Given the description of an element on the screen output the (x, y) to click on. 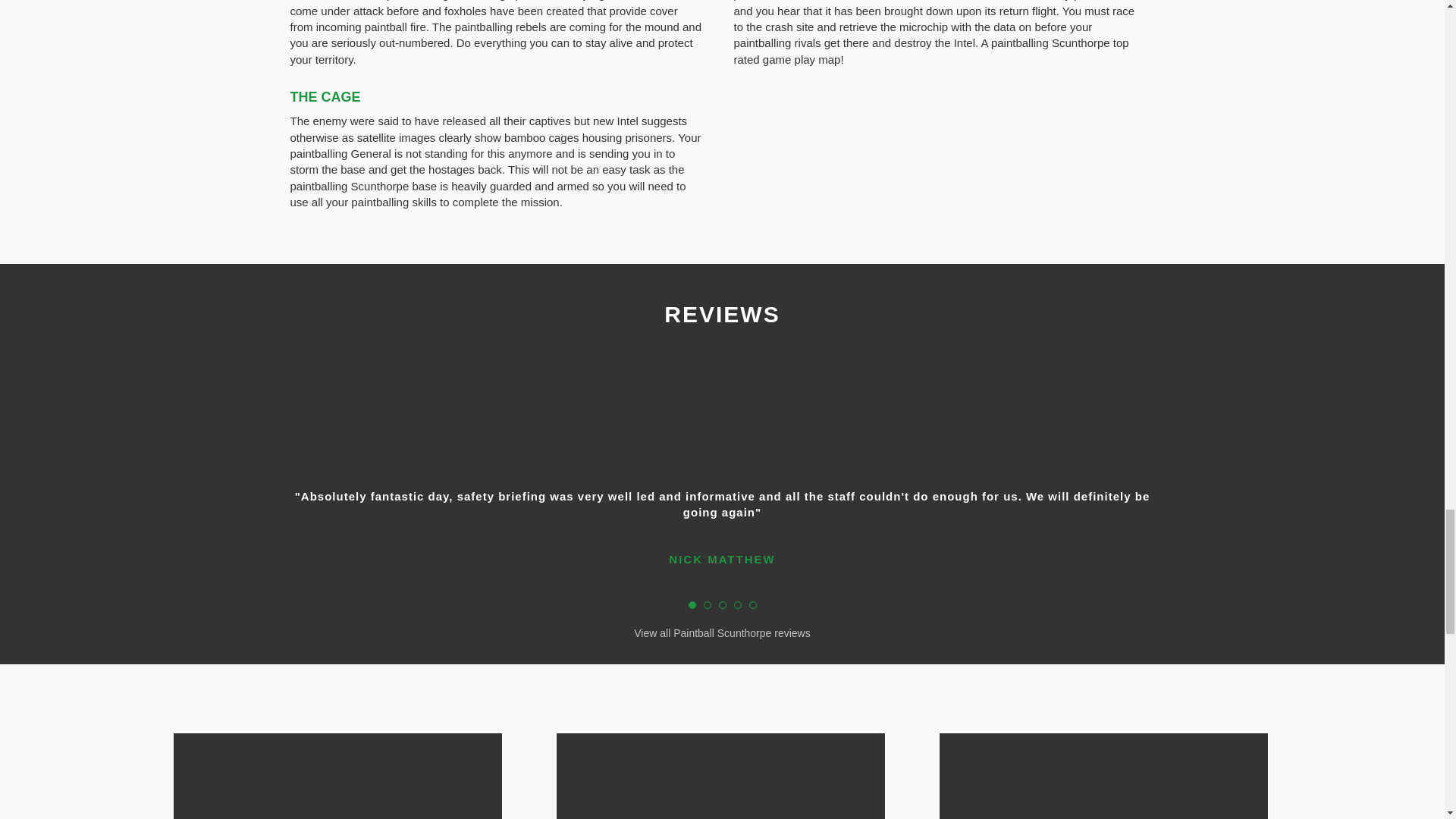
PAINTBALL STAG DO (336, 776)
PAINTBALL BIRTHDAY (1102, 776)
CORPORATE PAINTBALL (720, 776)
View all Paintball Scunthorpe reviews (721, 633)
